Given the description of an element on the screen output the (x, y) to click on. 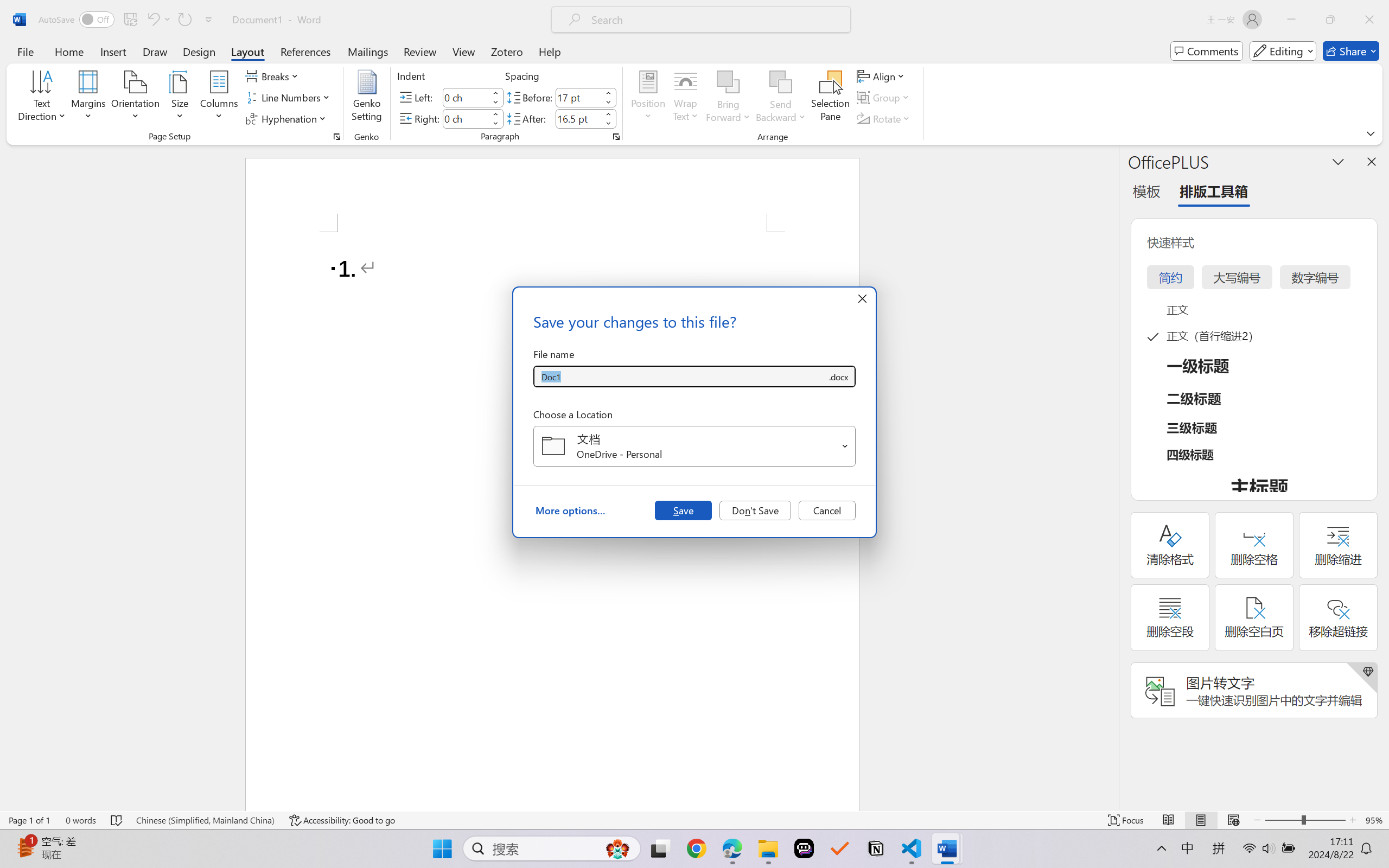
Spacing Before (578, 96)
Less (608, 123)
Repeat Doc Close (184, 19)
Breaks (273, 75)
